Given the description of an element on the screen output the (x, y) to click on. 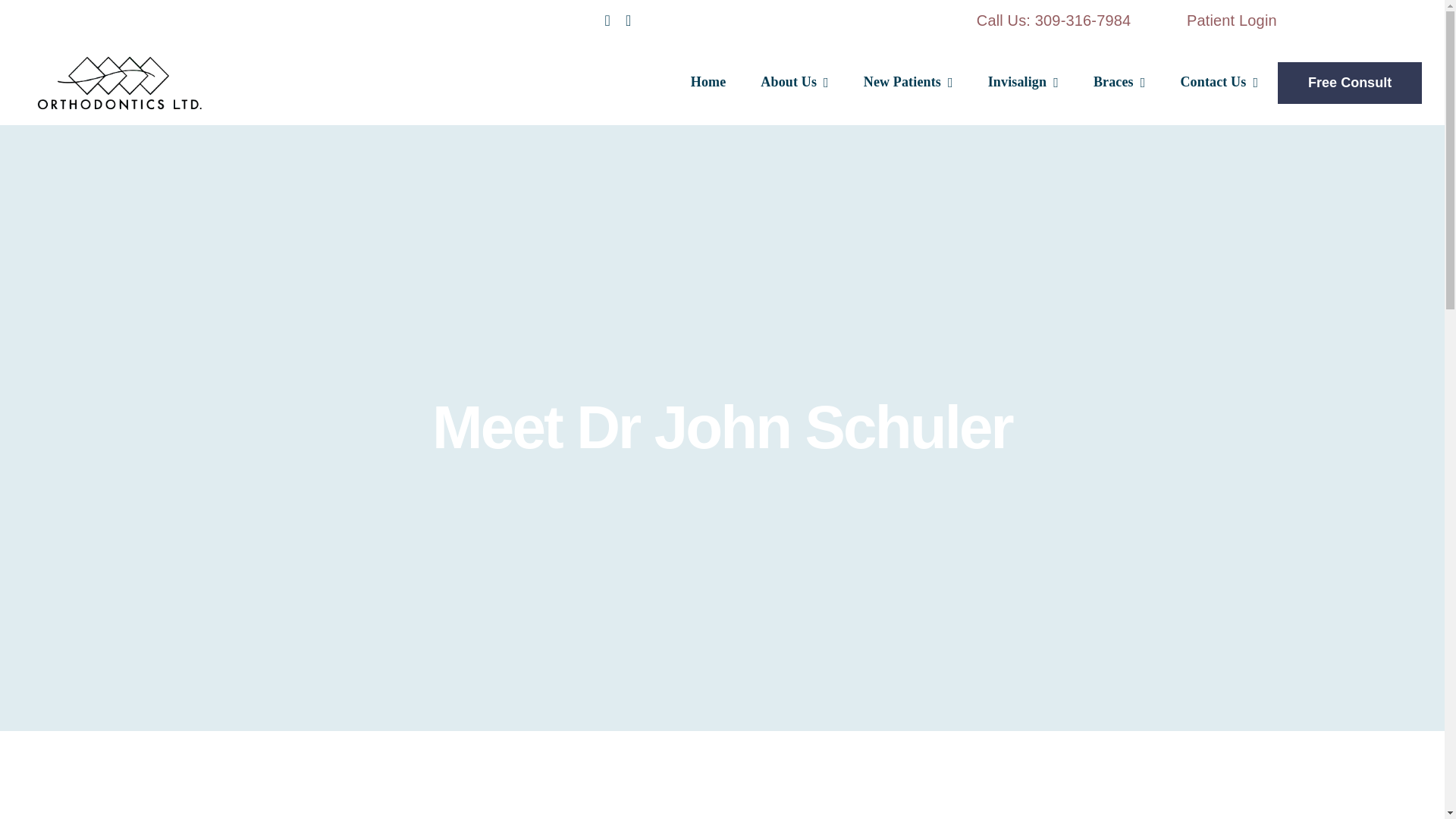
Patient Login (1231, 20)
Call Us: 309-316-7984 (1053, 20)
Home (708, 83)
New Patients (908, 83)
Contact Us (1218, 83)
About Us (794, 83)
Invisalign (1023, 83)
Free Consult (1350, 83)
Braces (1119, 83)
